Given the description of an element on the screen output the (x, y) to click on. 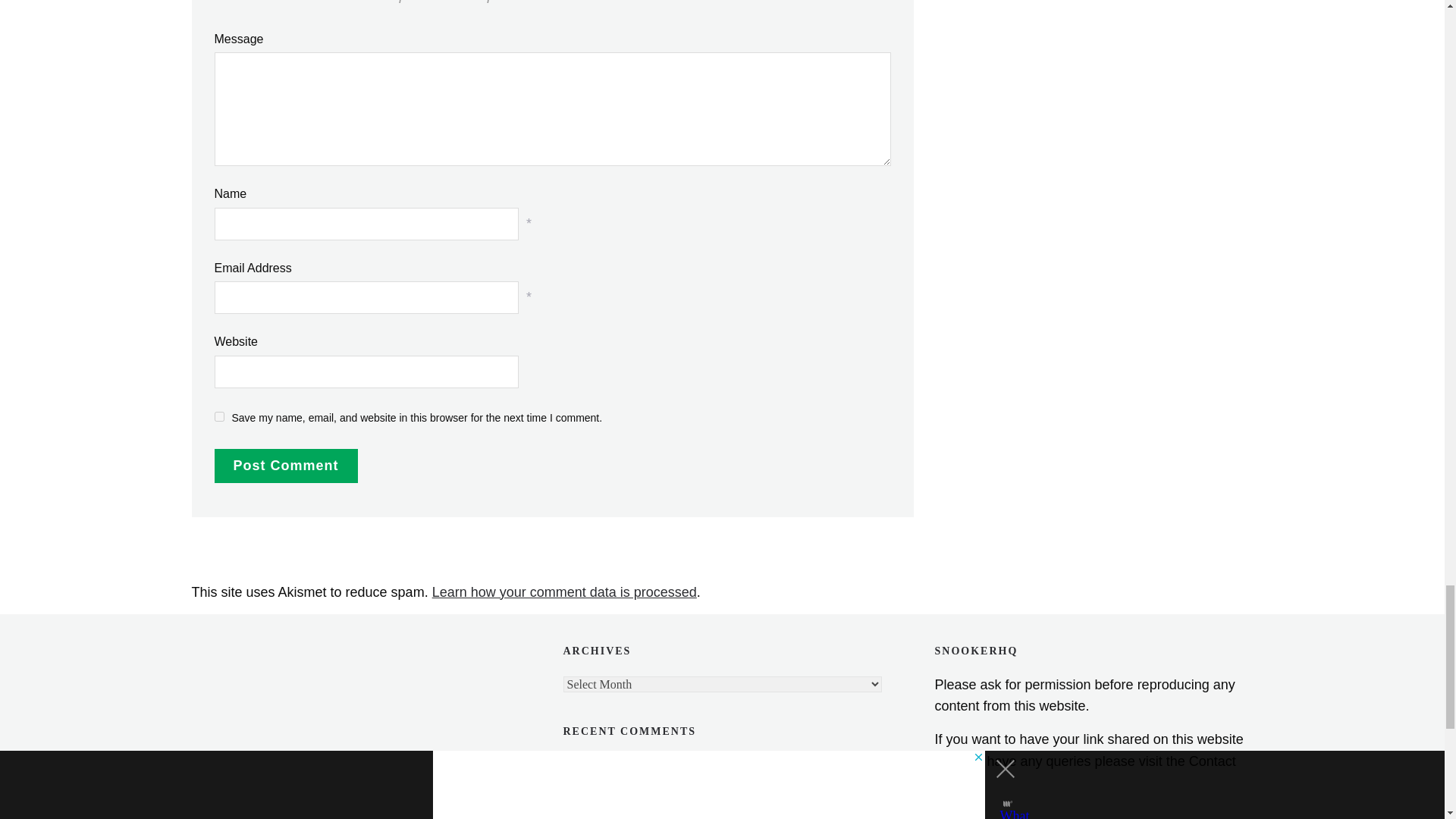
Post Comment (285, 465)
yes (219, 416)
